Given the description of an element on the screen output the (x, y) to click on. 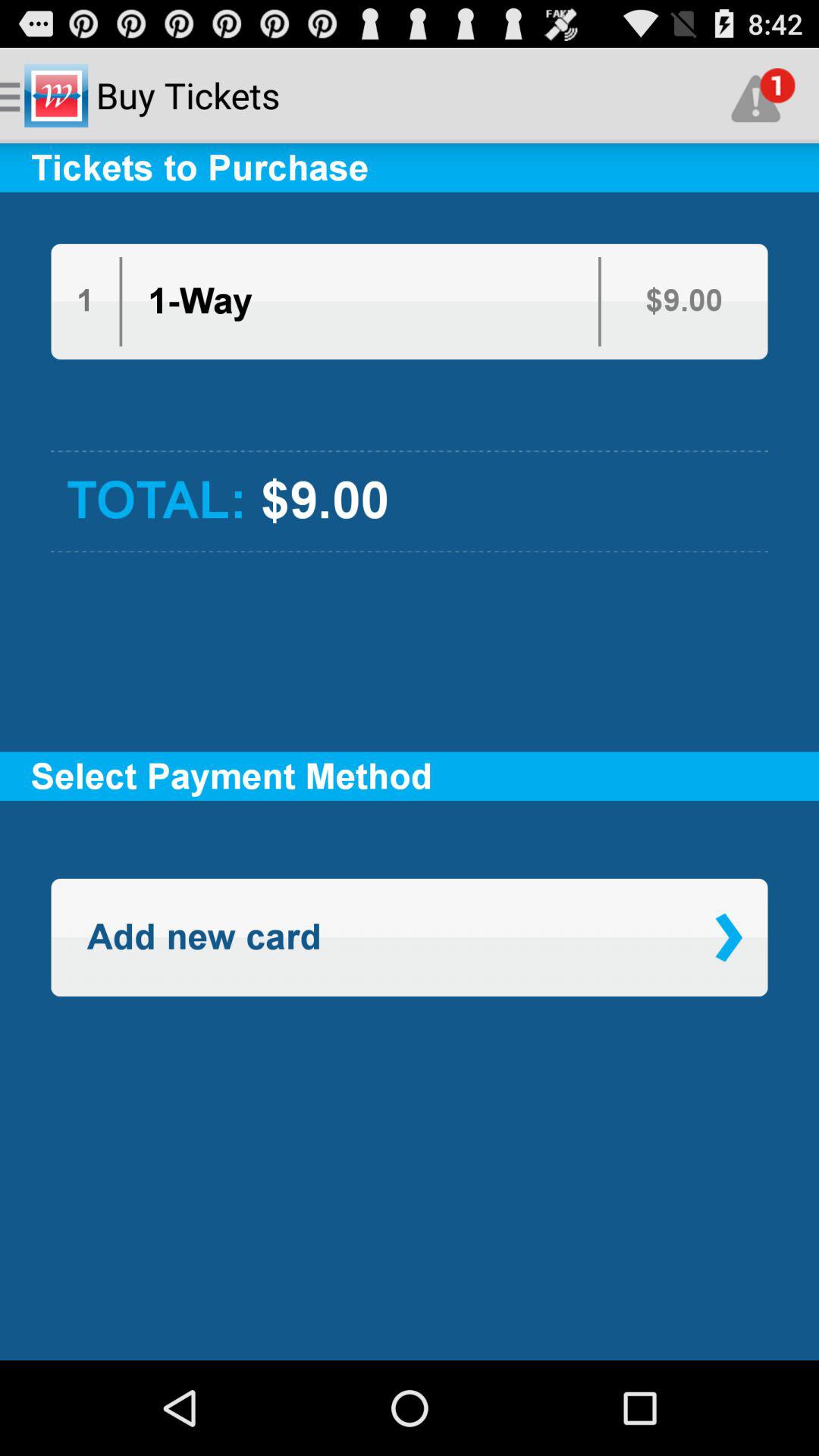
click select payment method app (409, 775)
